Given the description of an element on the screen output the (x, y) to click on. 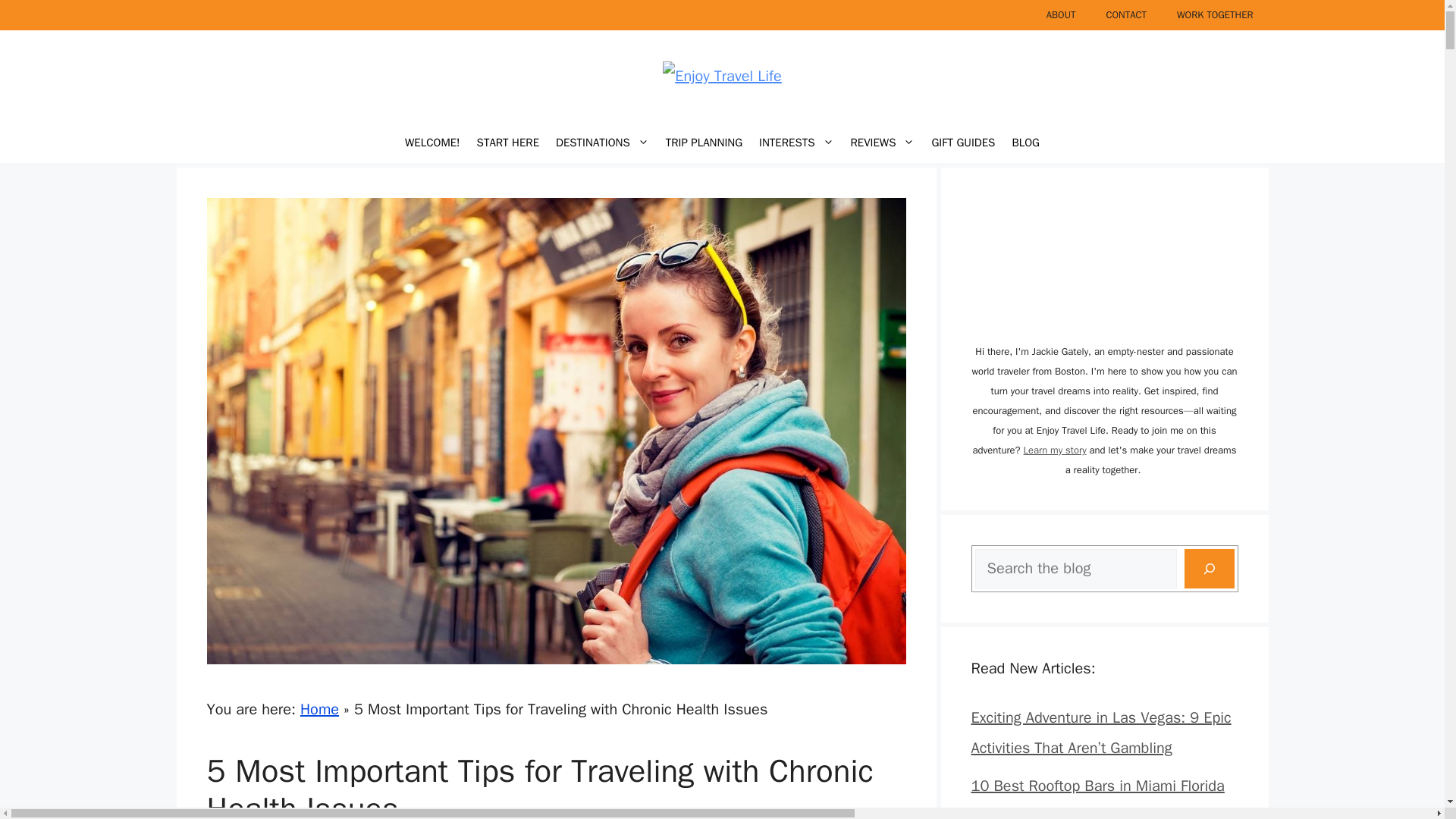
ABOUT (1060, 15)
CONTACT (1125, 15)
WORK TOGETHER (1214, 15)
